Given the description of an element on the screen output the (x, y) to click on. 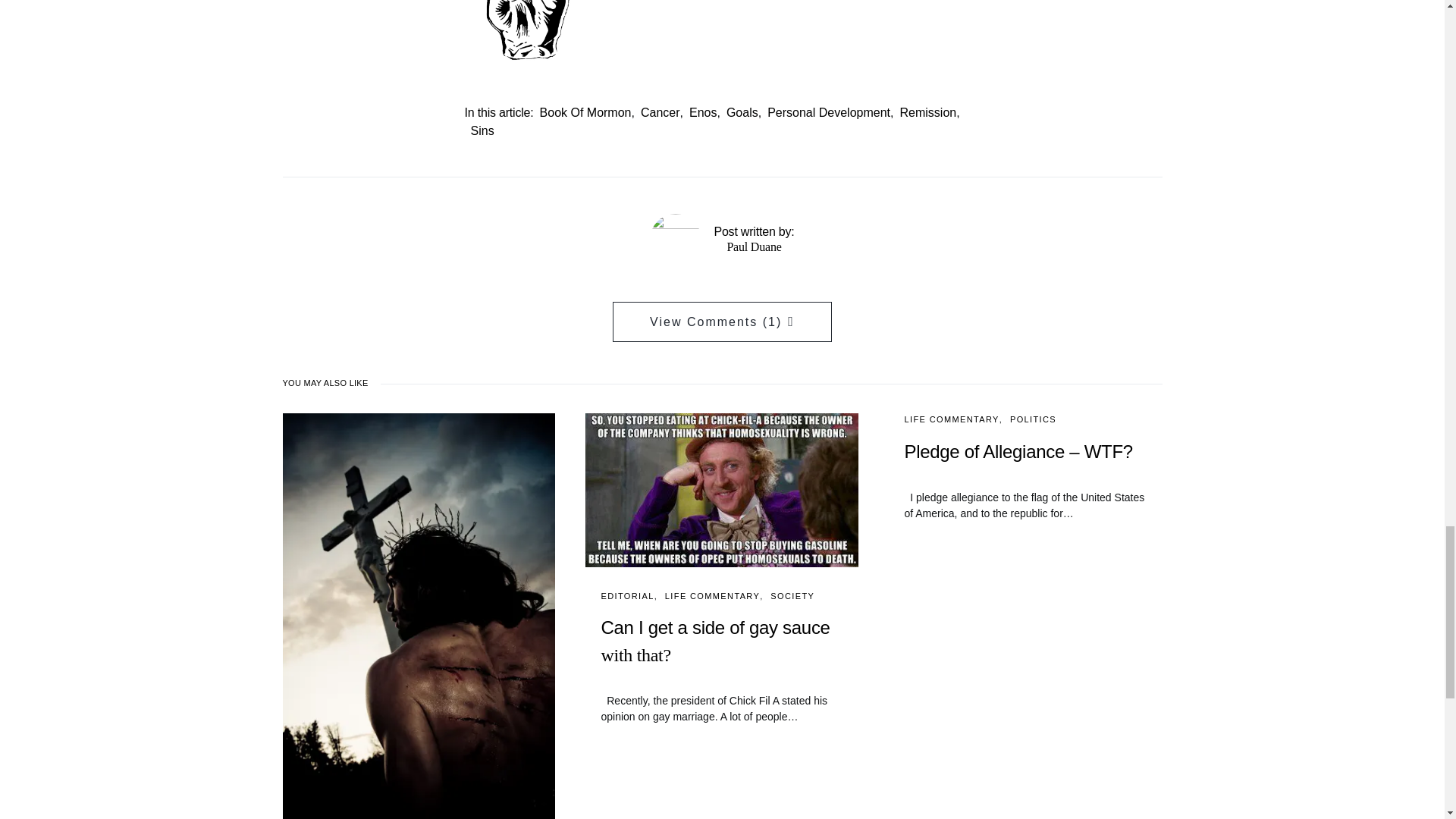
Book Of Mormon (585, 113)
Can I get a side of gay sauce with that? (721, 654)
Enos (702, 113)
Paul Duane (753, 246)
Remission (927, 113)
Goals (742, 113)
Sins (481, 131)
Cancer (659, 113)
Personal Development (828, 113)
